Given the description of an element on the screen output the (x, y) to click on. 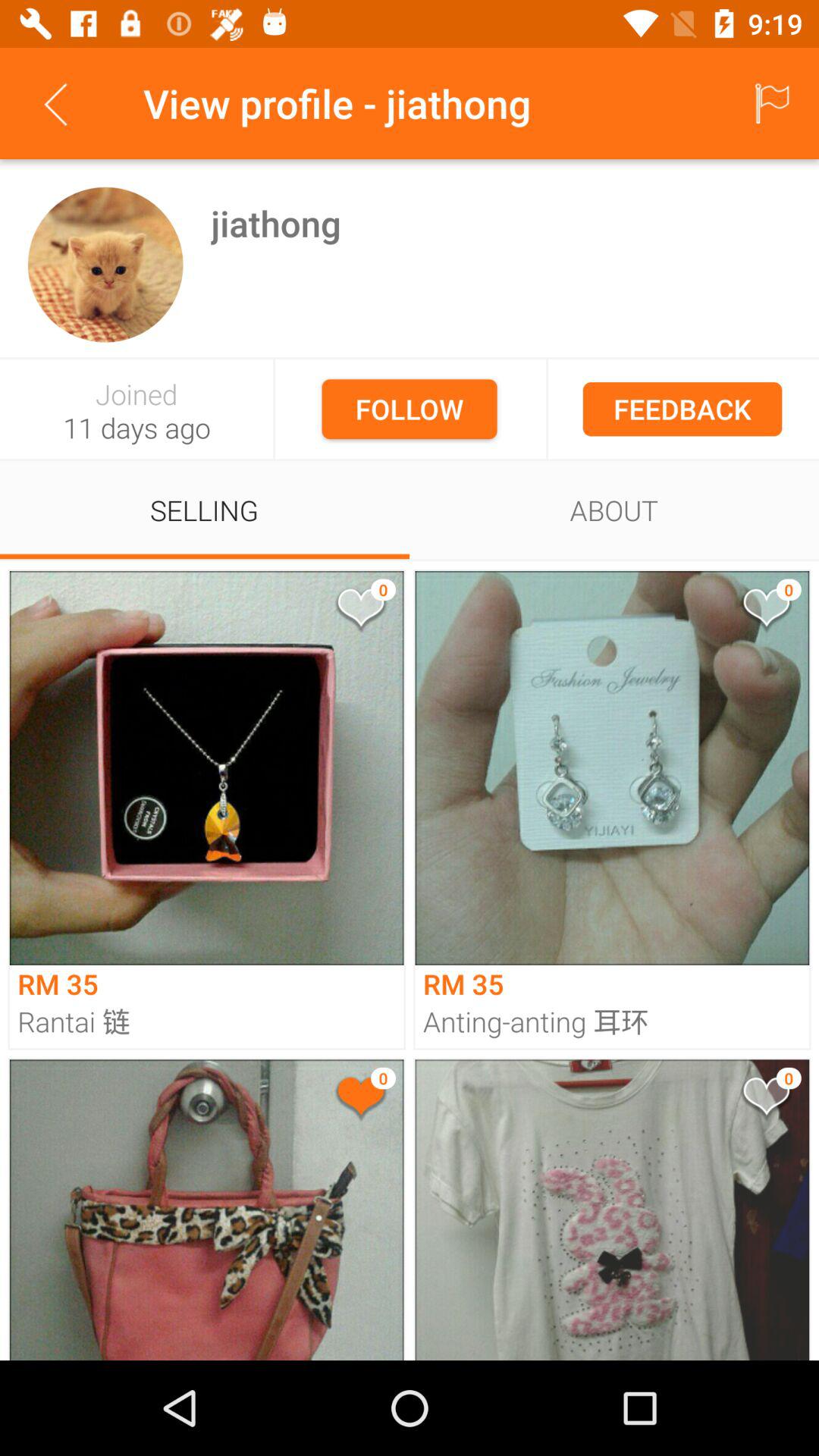
unlike photo (359, 1099)
